Given the description of an element on the screen output the (x, y) to click on. 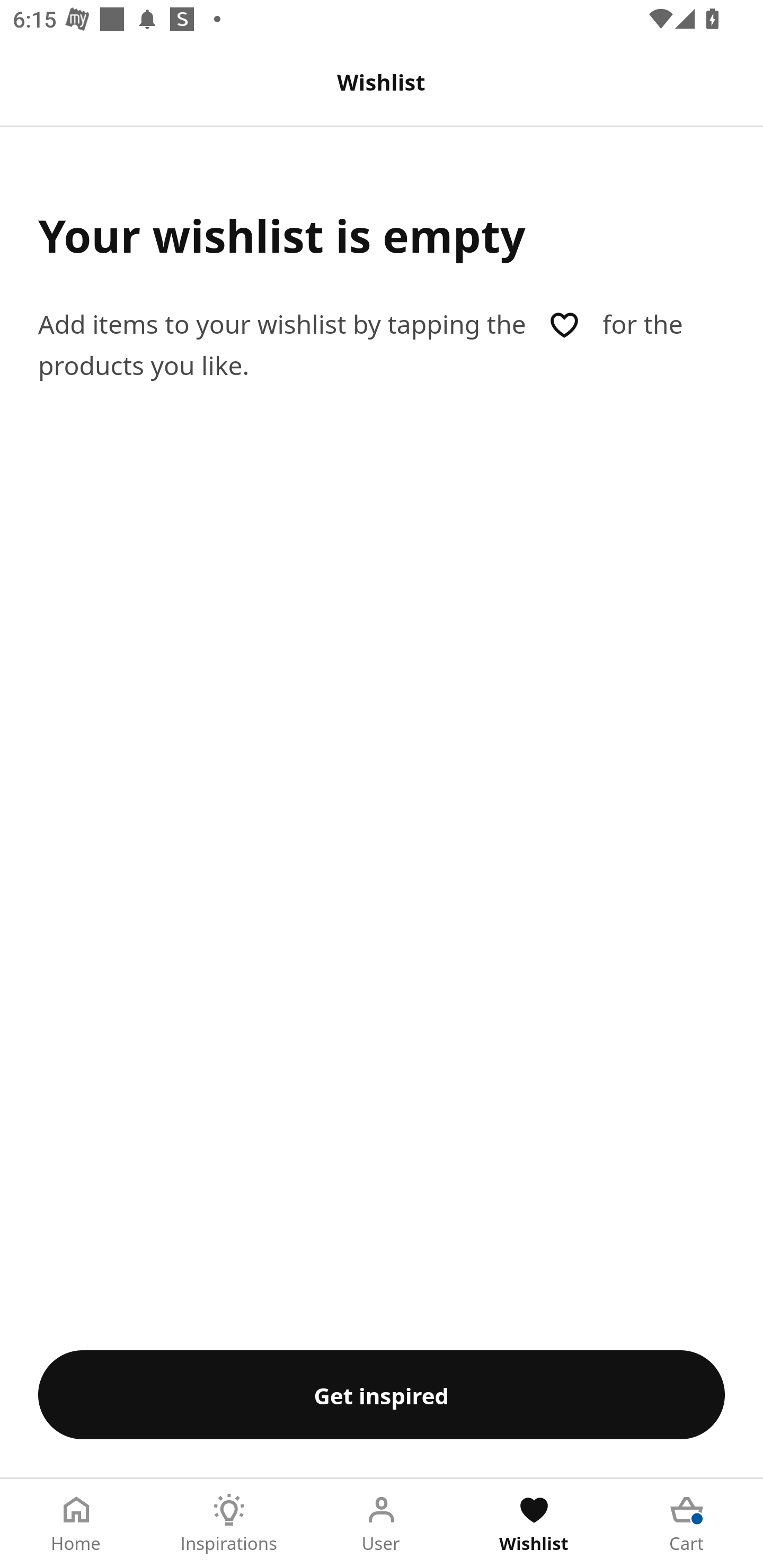
Get inspired (381, 1394)
Home
Tab 1 of 5 (76, 1522)
Inspirations
Tab 2 of 5 (228, 1522)
User
Tab 3 of 5 (381, 1522)
Wishlist
Tab 4 of 5 (533, 1522)
Cart
Tab 5 of 5 (686, 1522)
